Given the description of an element on the screen output the (x, y) to click on. 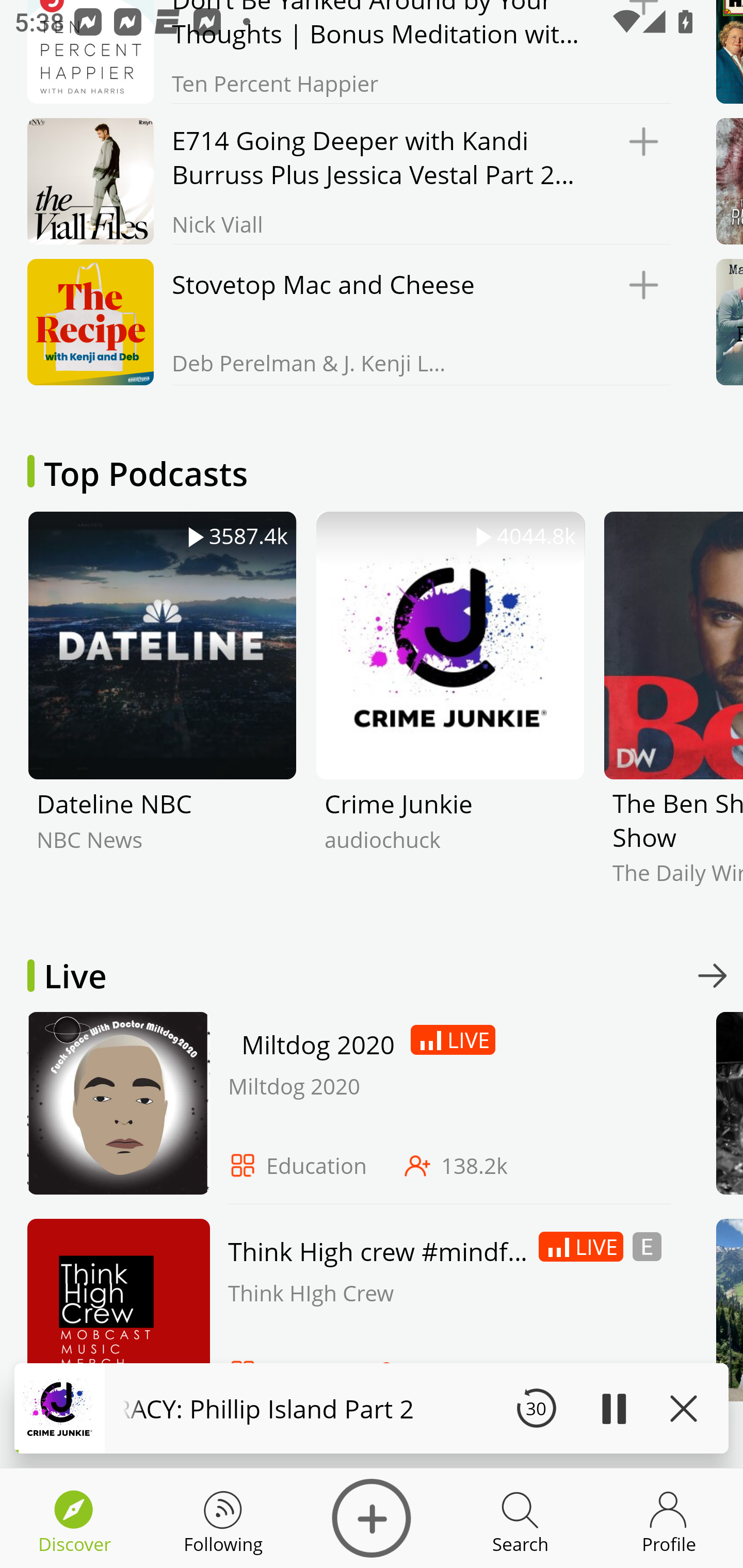
3587.4k Dateline NBC NBC News (162, 713)
4044.8k Crime Junkie audiochuck (450, 713)
The Ben Shapiro Show The Daily Wire (673, 713)
  Miltdog 2020  LIVE Miltdog 2020 Education 138.2k (344, 1107)
Play (613, 1407)
30 Seek Backward (536, 1407)
Discover Following (222, 1518)
Discover (371, 1518)
Discover Search (519, 1518)
Discover Profile (668, 1518)
